Given the description of an element on the screen output the (x, y) to click on. 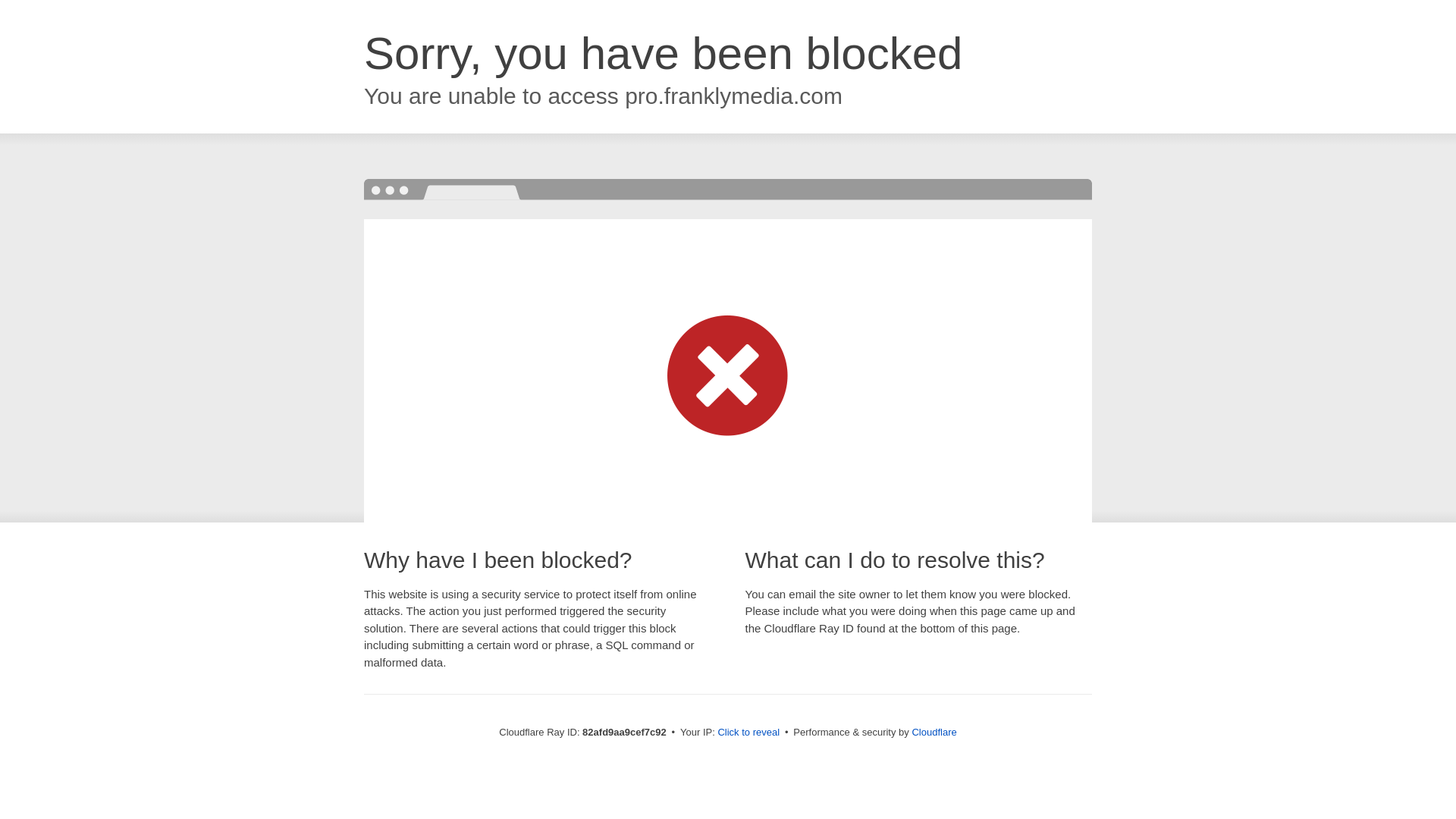
Cloudflare Element type: text (933, 731)
Click to reveal Element type: text (748, 732)
